Given the description of an element on the screen output the (x, y) to click on. 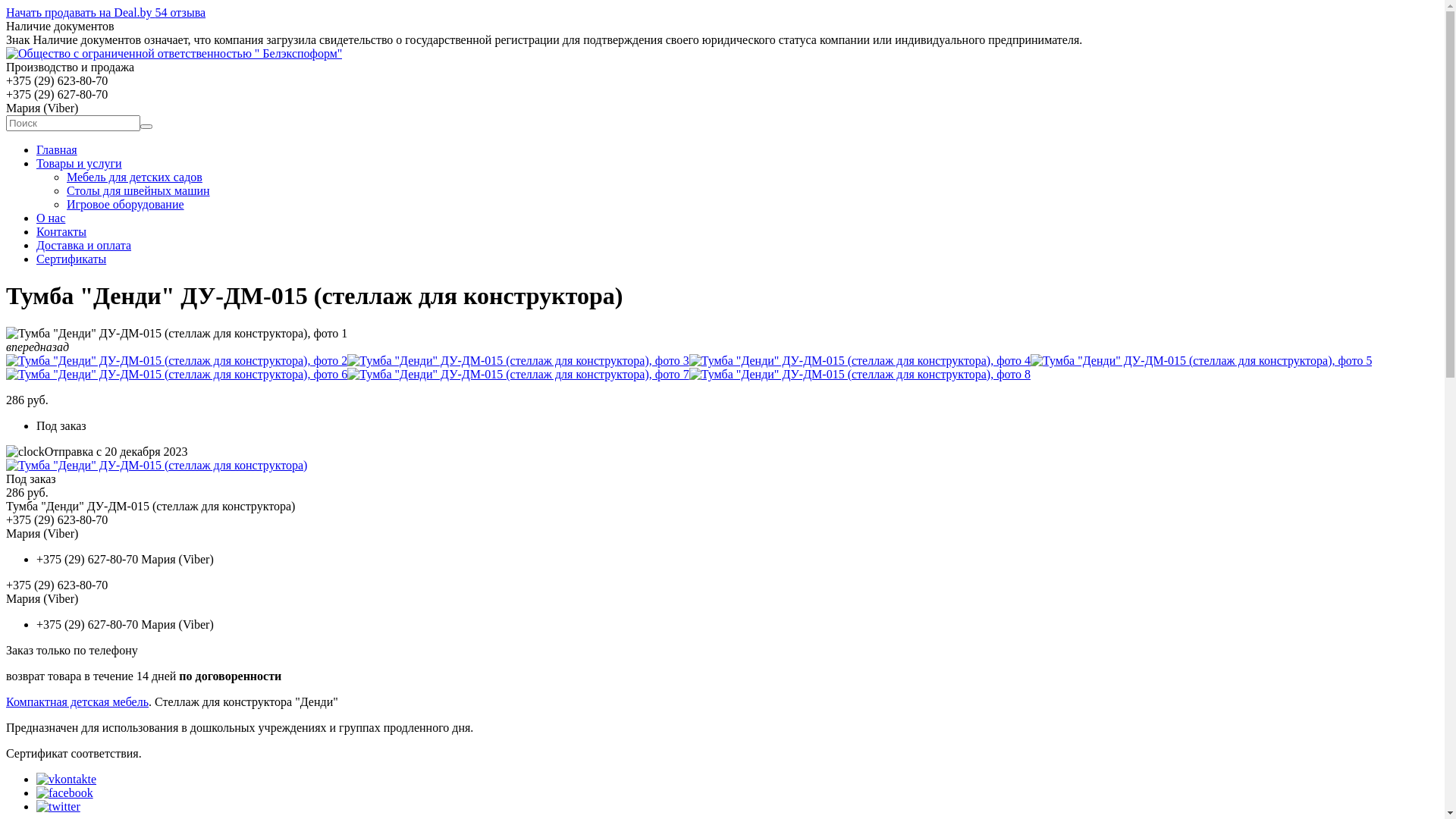
twitter Element type: hover (58, 806)
facebook Element type: hover (64, 792)
